Given the description of an element on the screen output the (x, y) to click on. 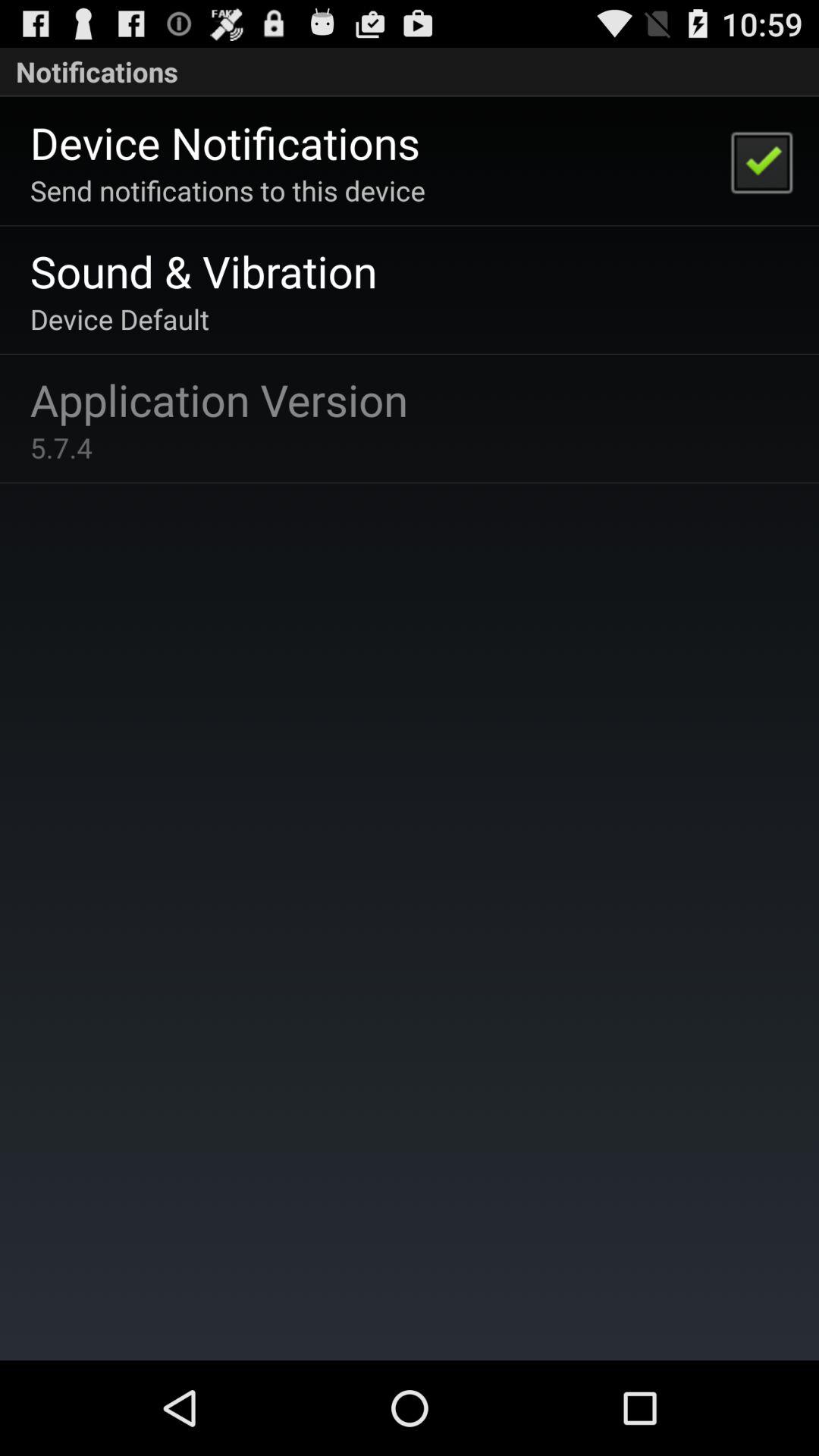
click app below the device default app (218, 399)
